Given the description of an element on the screen output the (x, y) to click on. 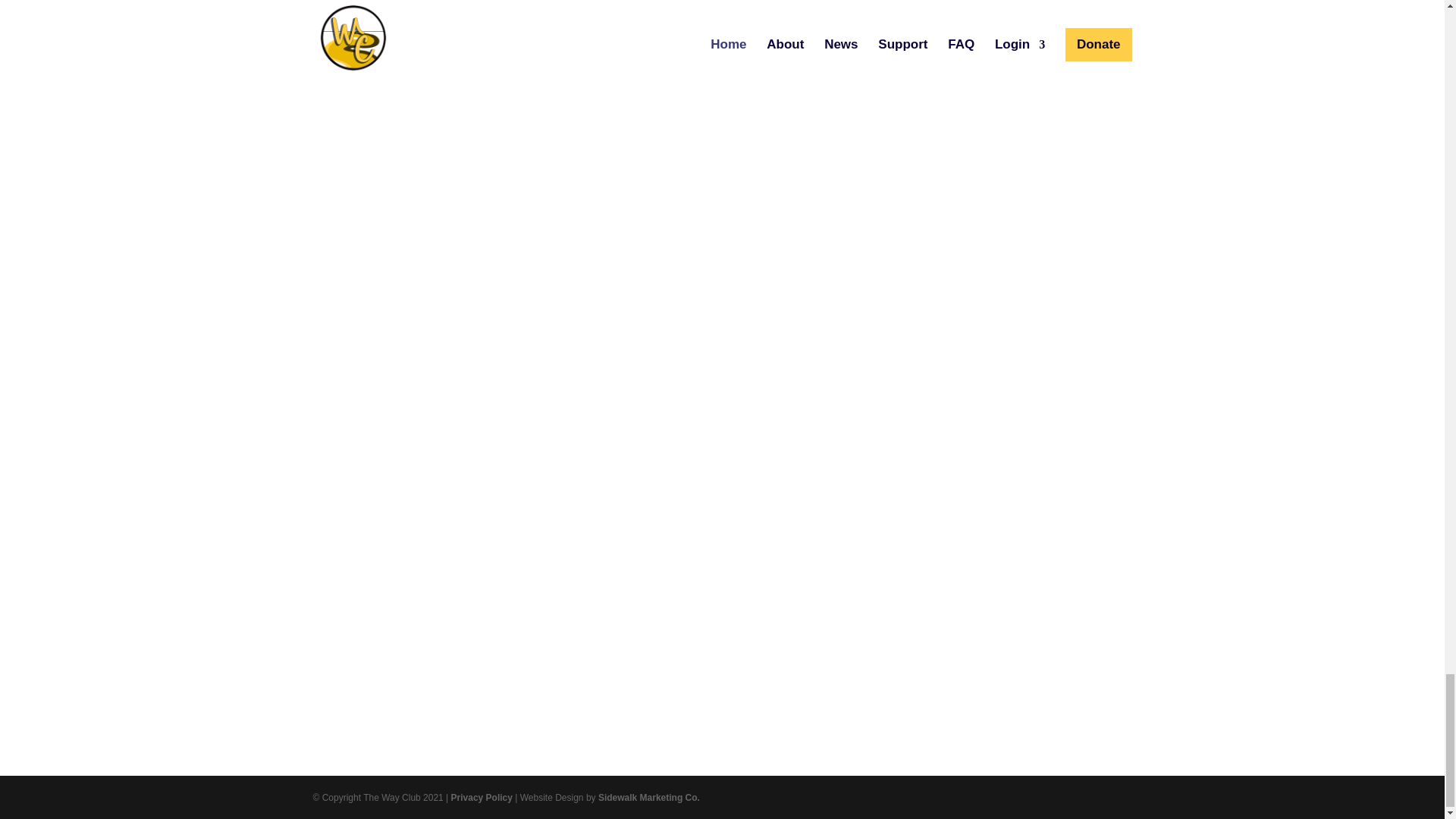
Sidewalk Marketing Co. (649, 797)
Privacy Policy (481, 797)
